Given the description of an element on the screen output the (x, y) to click on. 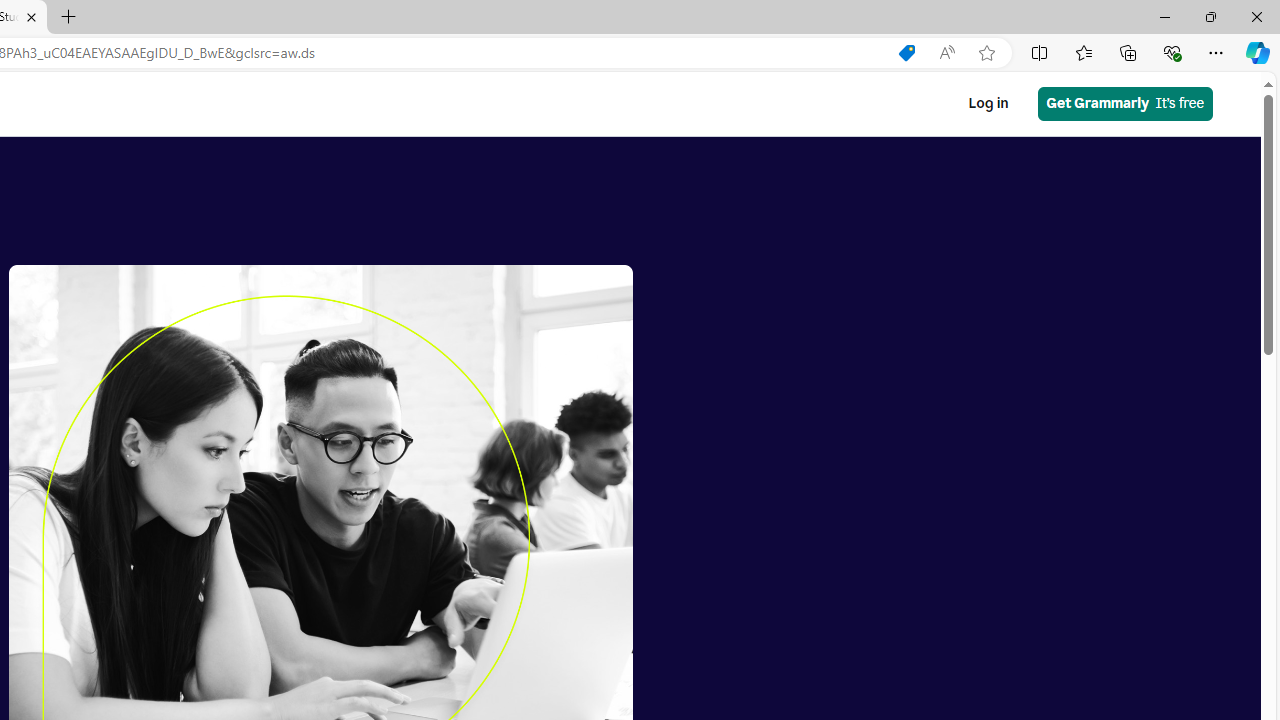
Shopping in Microsoft Edge (906, 53)
